Given the description of an element on the screen output the (x, y) to click on. 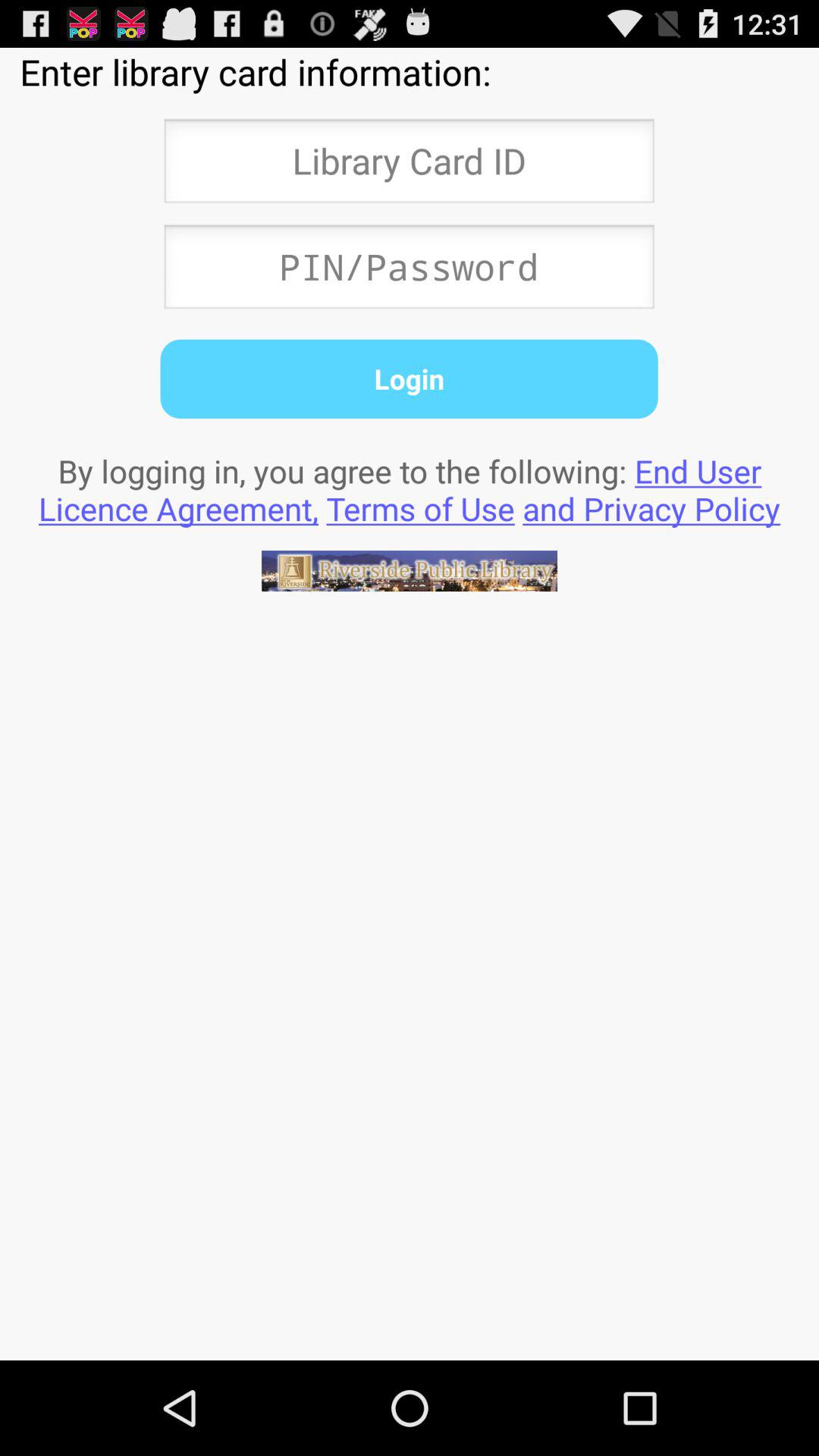
input information (409, 271)
